Given the description of an element on the screen output the (x, y) to click on. 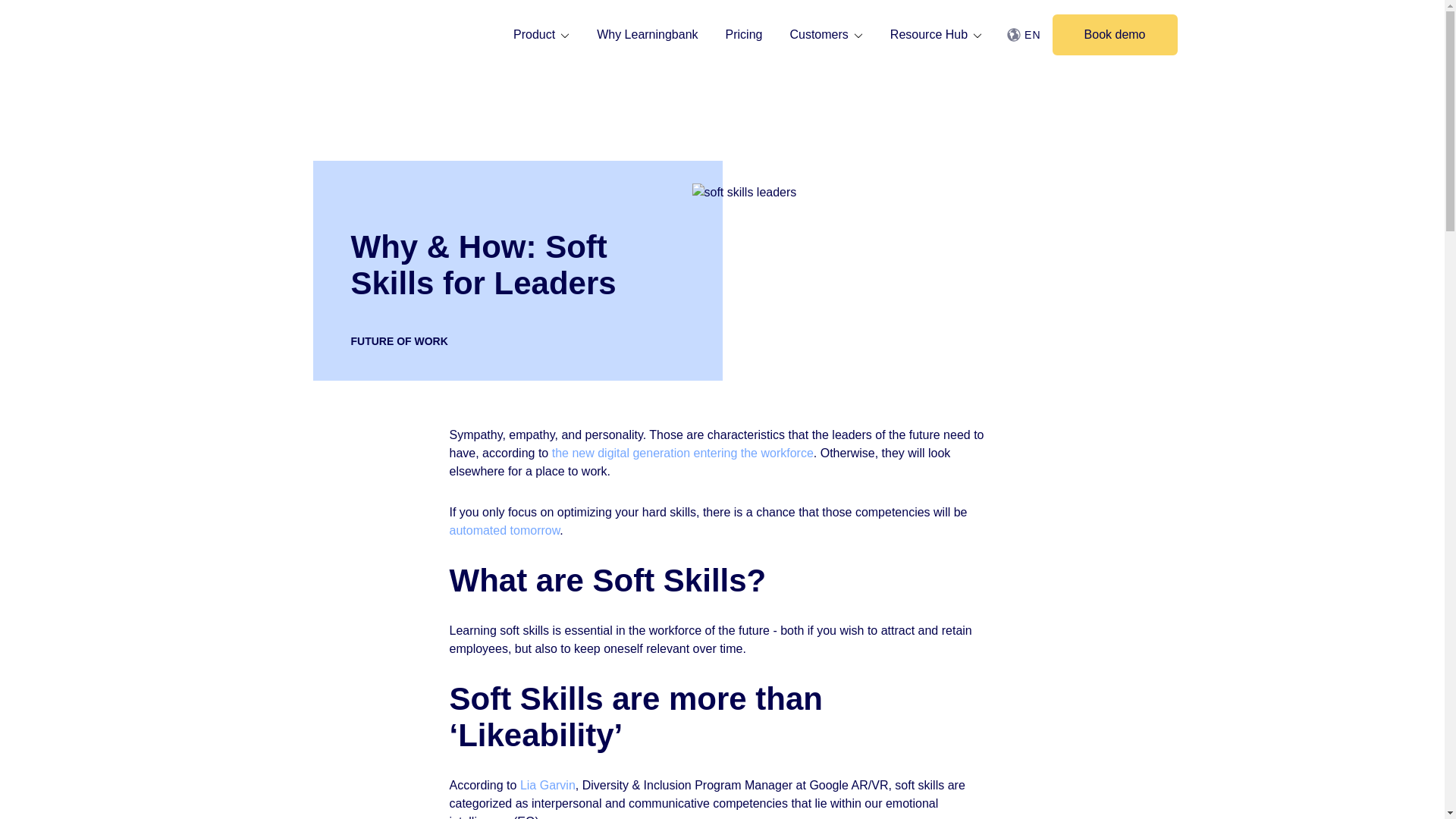
Why Learningbank (647, 34)
Product (541, 34)
Customers (826, 34)
Learningbank (335, 52)
Resource Hub (935, 34)
Pricing (743, 34)
